Given the description of an element on the screen output the (x, y) to click on. 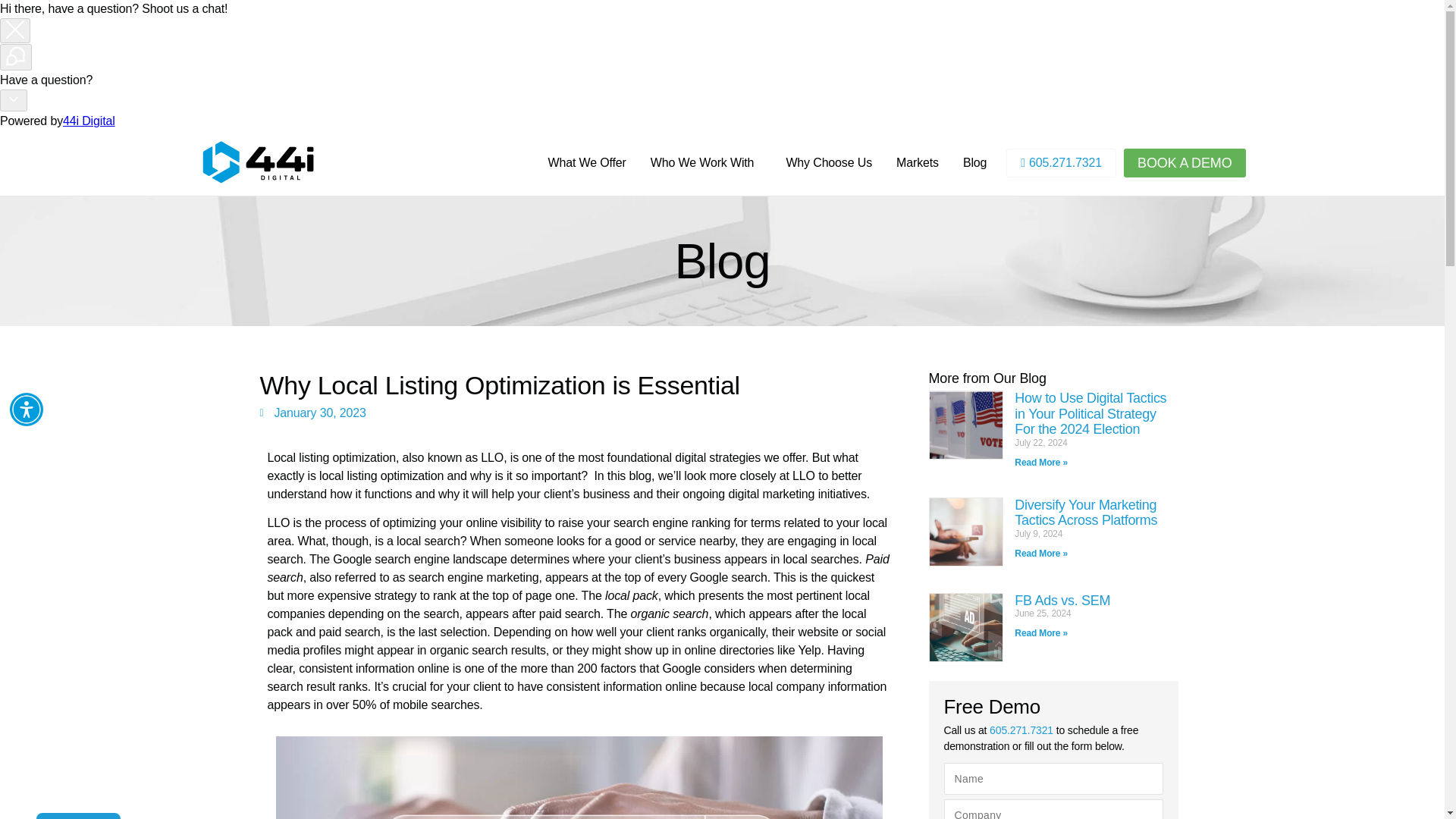
BOOK A DEMO (1184, 162)
Blog (974, 162)
Who We Work With (706, 162)
605.271.7321 (1061, 162)
Diversify Your Marketing Tactics Across Platforms (1085, 512)
FB Ads vs. SEM (1061, 600)
Why Choose Us (828, 162)
Accessibility Menu (26, 409)
What We Offer (586, 162)
January 30, 2023 (312, 413)
Markets (916, 162)
